Given the description of an element on the screen output the (x, y) to click on. 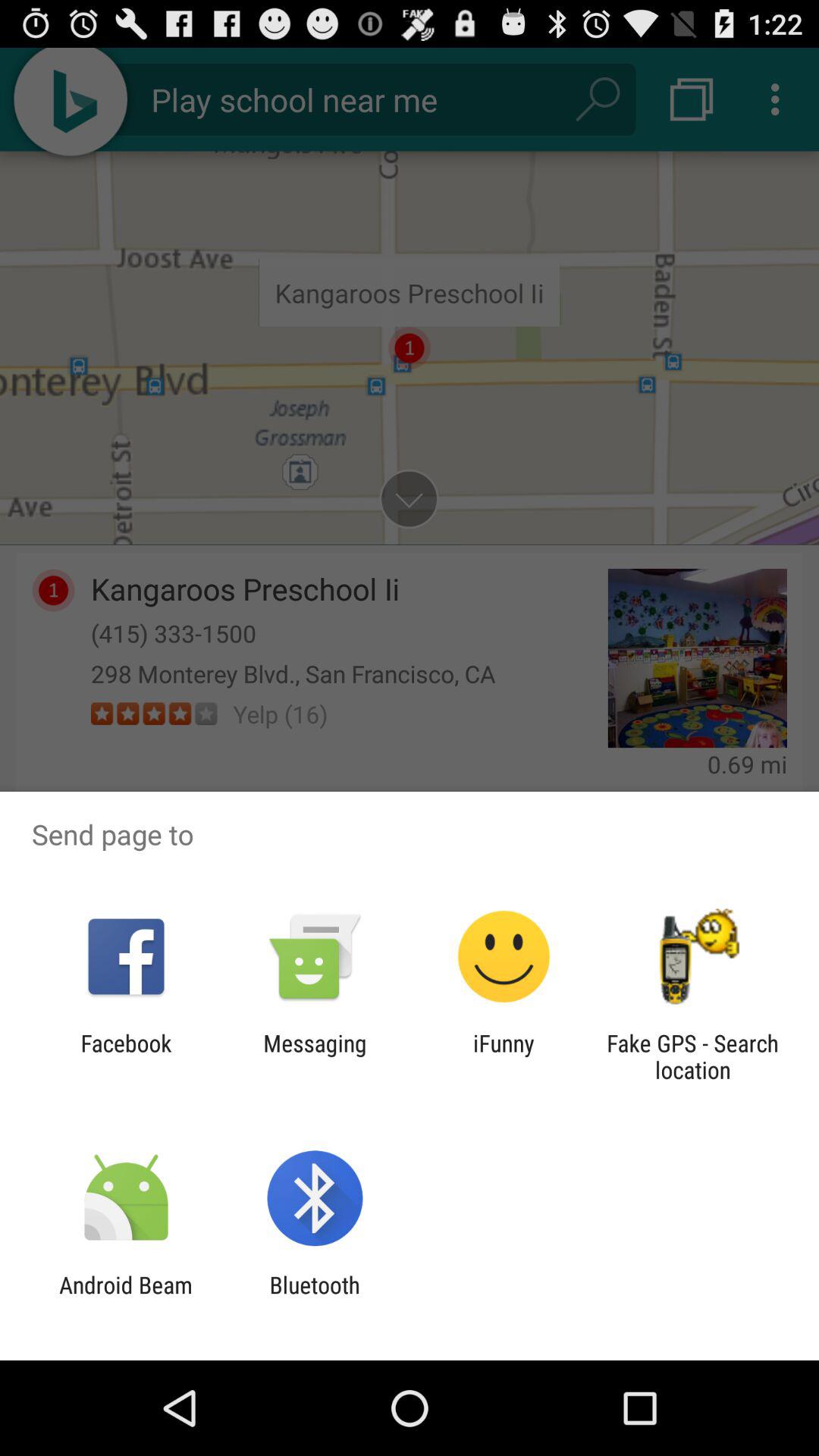
tap icon to the left of messaging icon (125, 1056)
